Given the description of an element on the screen output the (x, y) to click on. 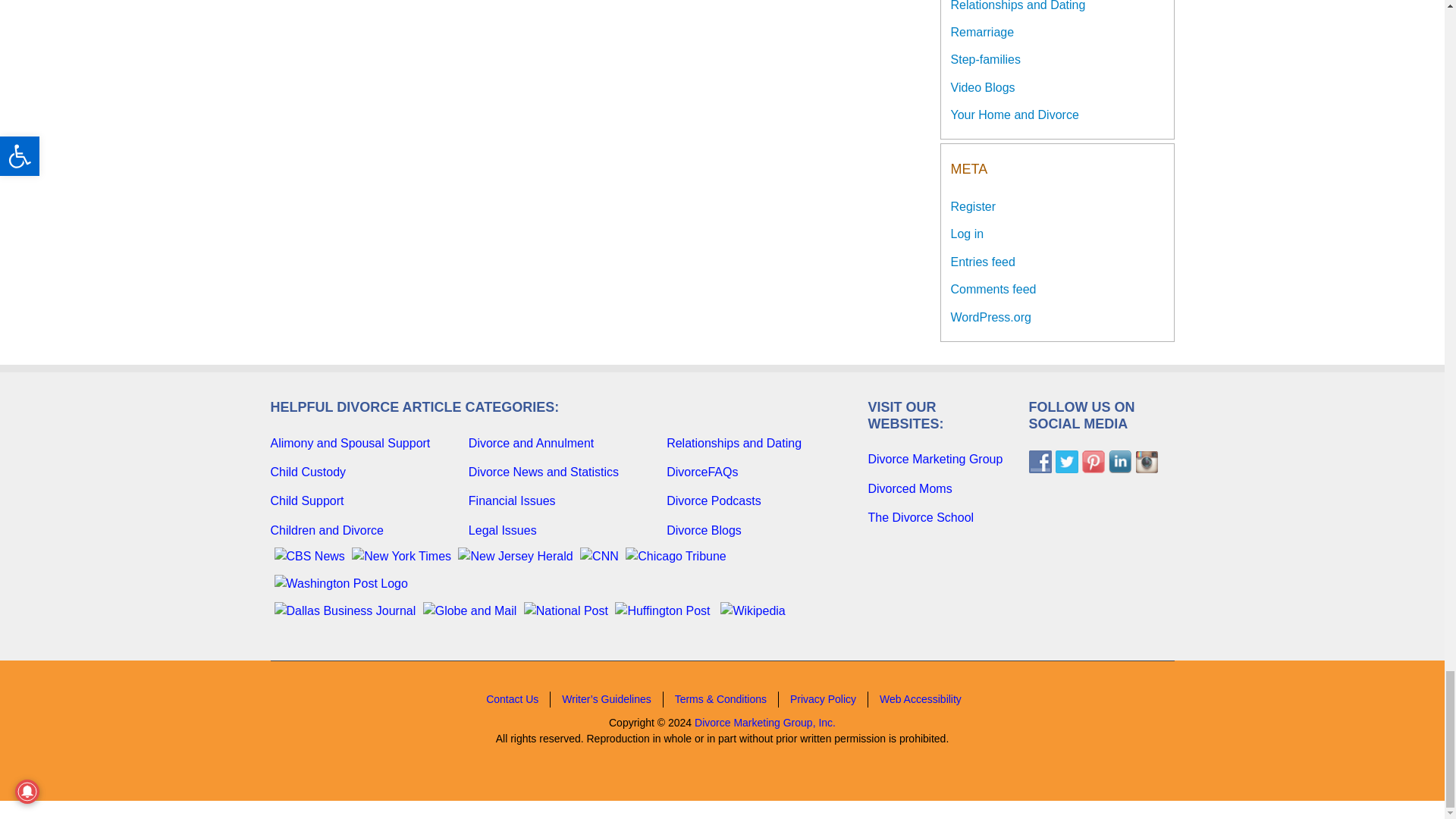
Twitter (1066, 461)
Instagram (1145, 461)
LinkedIn (1119, 461)
Facebook (1039, 461)
Pinterest (1092, 461)
